Given the description of an element on the screen output the (x, y) to click on. 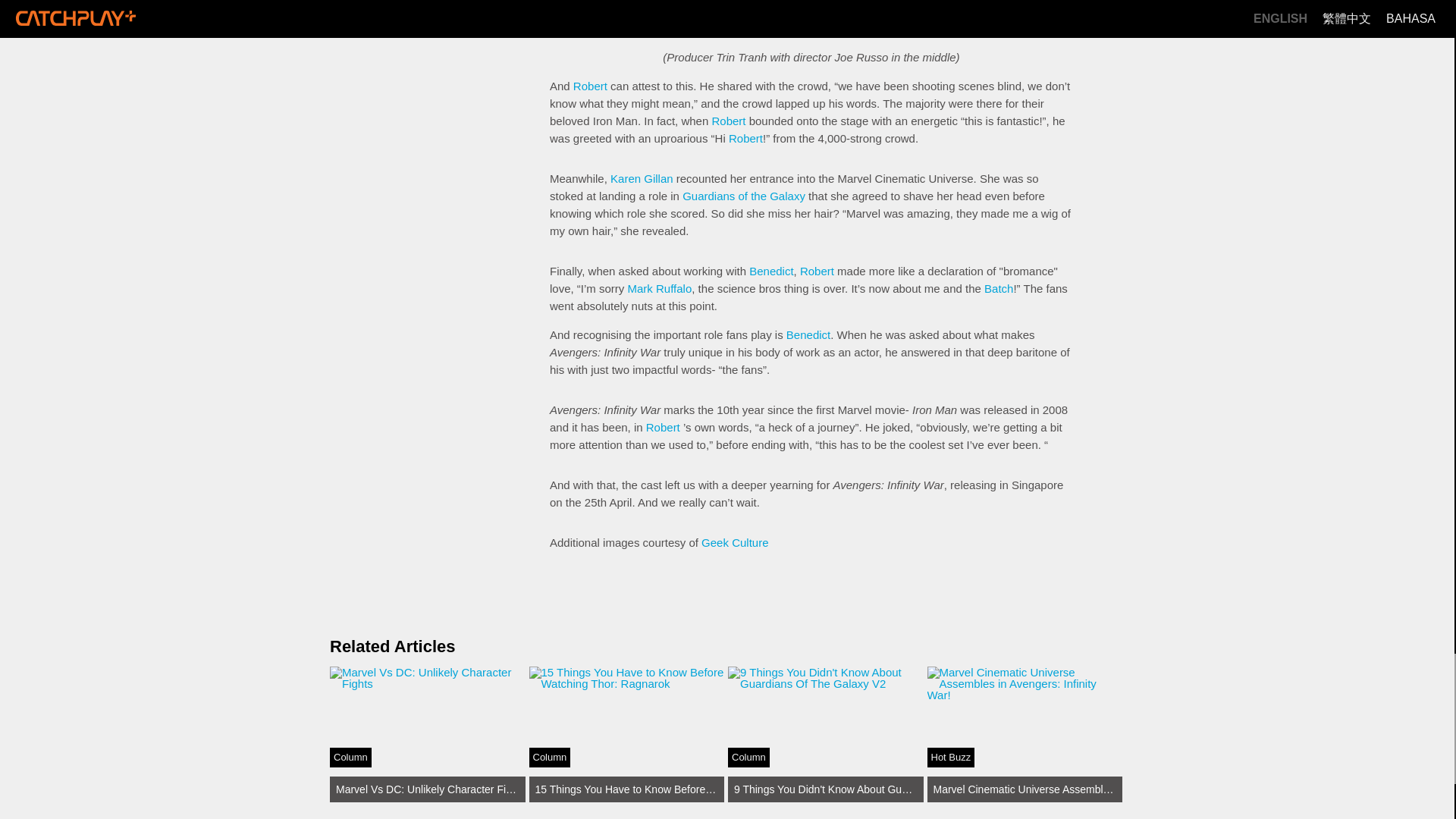
Robert (816, 270)
Guardians of the Galaxy (743, 195)
Karen Gillan (641, 178)
Russo (427, 734)
Tom Holland (755, 2)
Batch (678, 16)
Robert (998, 287)
Geek Culture (745, 137)
Benedict (734, 542)
Robert (771, 270)
Robert (590, 85)
Benedict (662, 427)
